Given the description of an element on the screen output the (x, y) to click on. 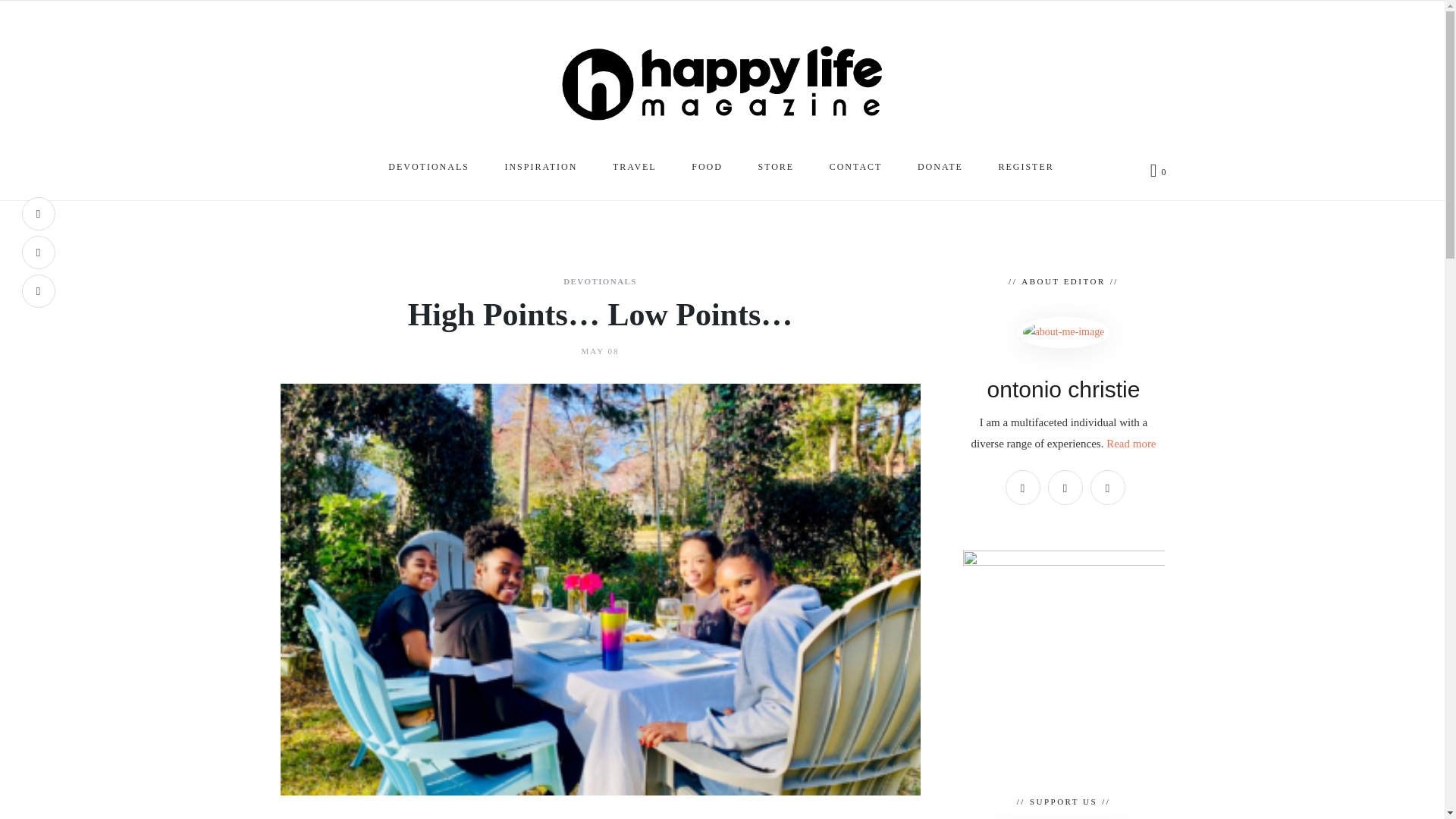
INSPIRATION (541, 170)
REGISTER (1026, 170)
DONATE (940, 170)
Instagram (38, 252)
Instagram (1065, 487)
Read more (1131, 443)
Twitter (1107, 487)
DEVOTIONALS (599, 281)
STORE (776, 170)
Twitter (38, 290)
